Given the description of an element on the screen output the (x, y) to click on. 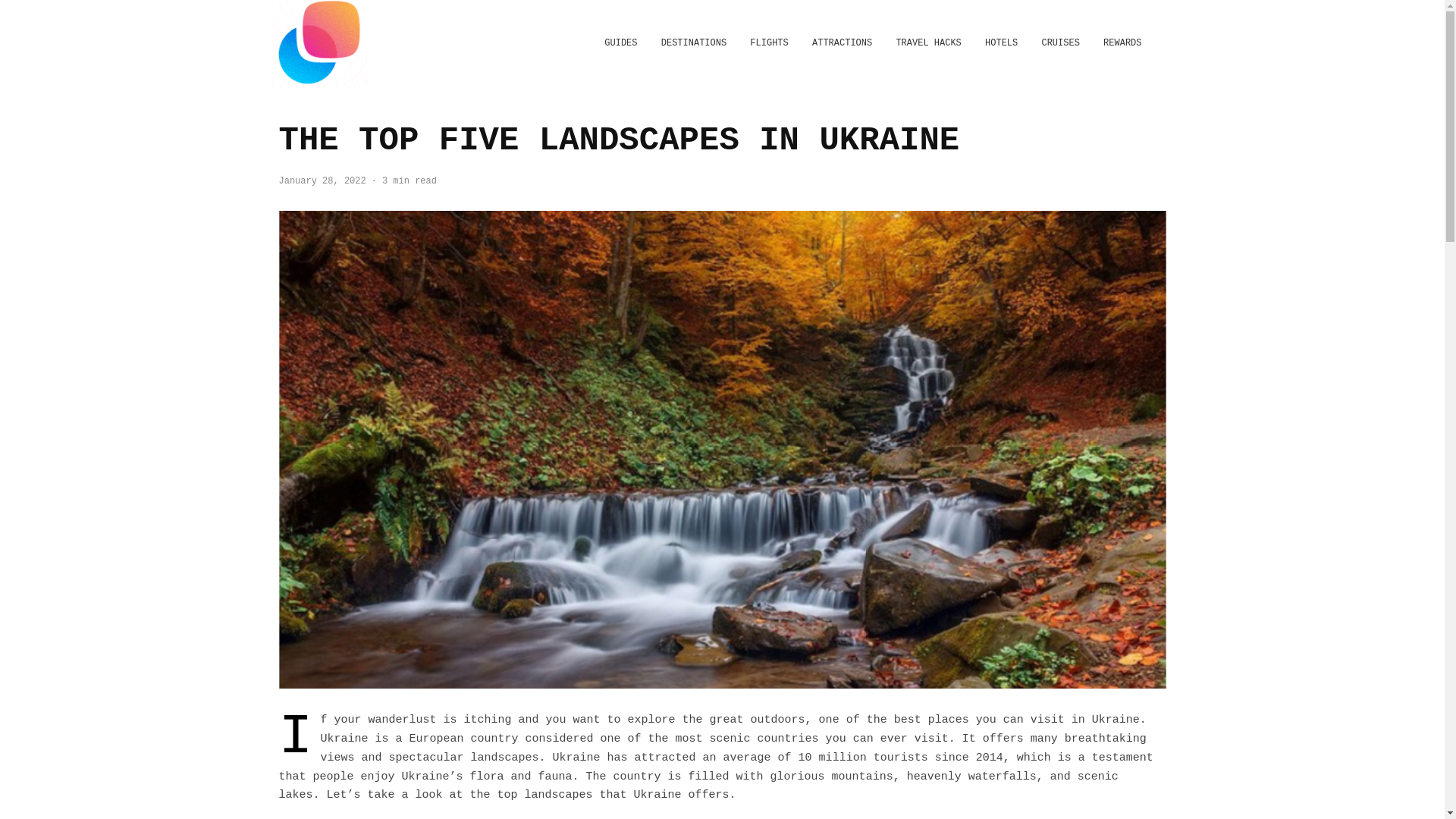
TRAVEL HACKS (927, 43)
FLIGHTS (768, 43)
DESTINATIONS (693, 43)
GUIDES (620, 43)
ATTRACTIONS (841, 43)
